Given the description of an element on the screen output the (x, y) to click on. 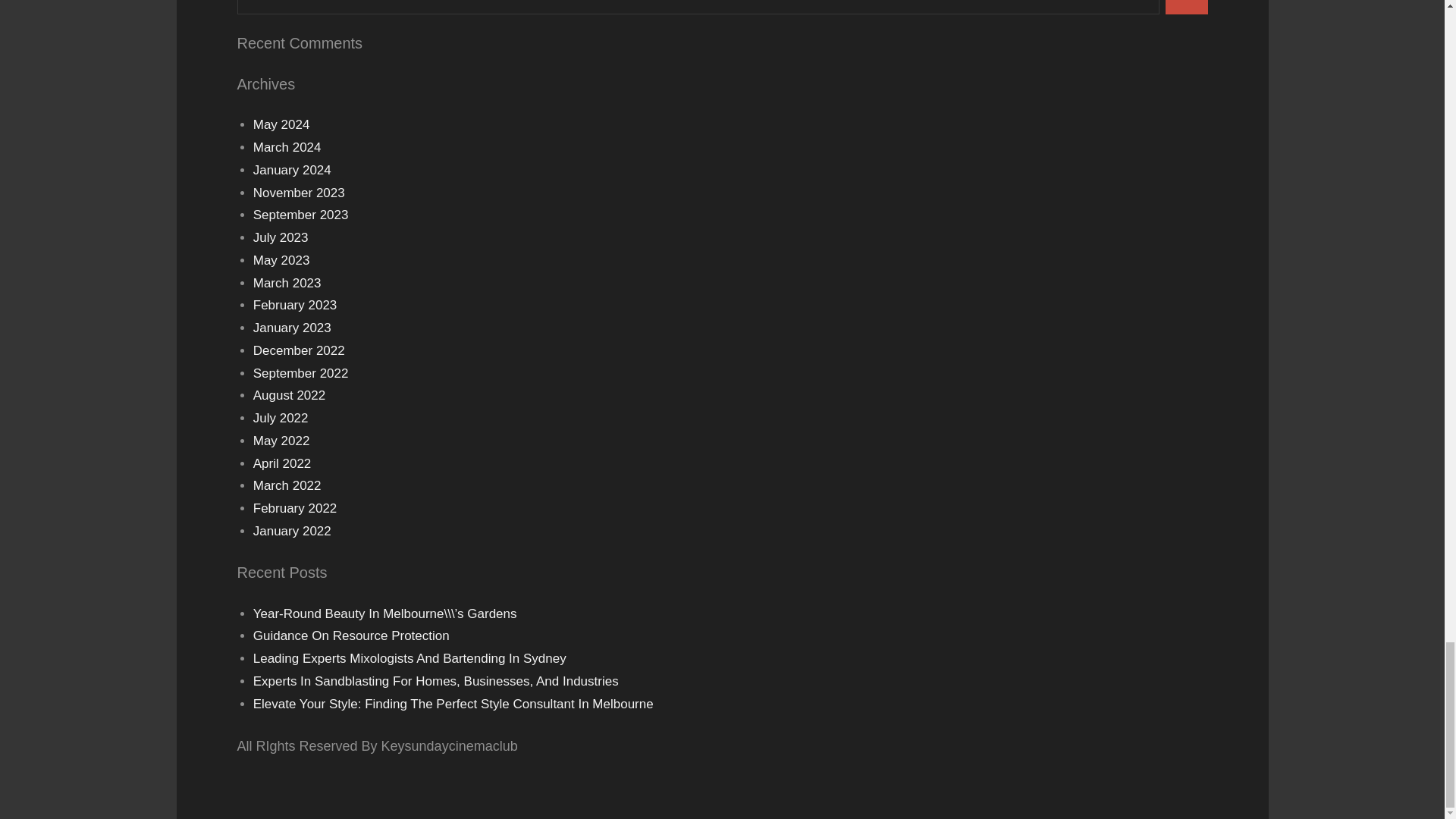
March 2022 (287, 485)
July 2023 (280, 237)
September 2023 (301, 214)
Leading Experts Mixologists And Bartending In Sydney (409, 658)
February 2023 (295, 305)
May 2024 (281, 124)
January 2024 (292, 169)
July 2022 (280, 418)
April 2022 (282, 463)
